Given the description of an element on the screen output the (x, y) to click on. 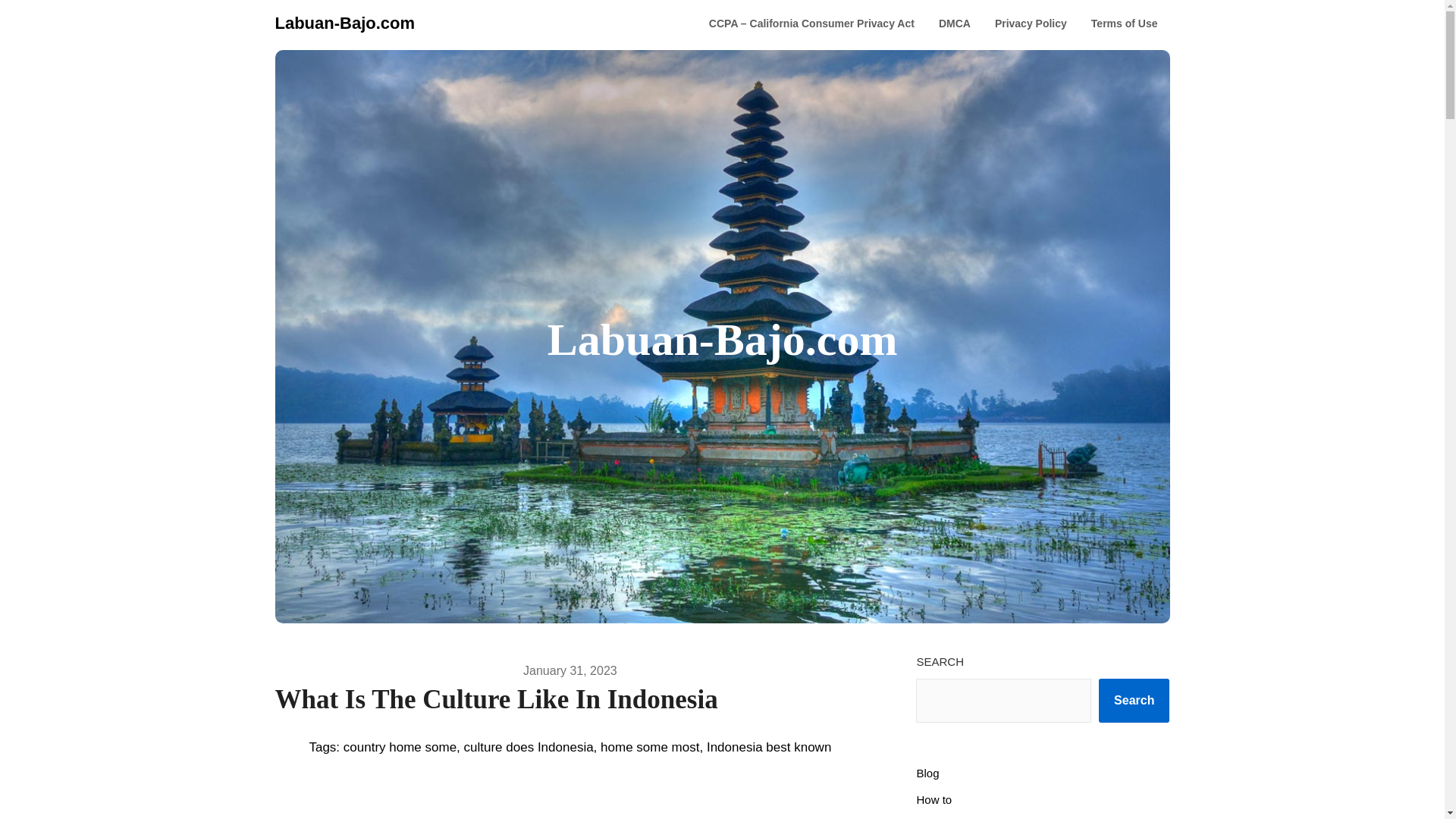
Privacy Policy (1030, 24)
Labuan-Bajo.com (344, 22)
Indonesia best known (768, 747)
January 31, 2023 (569, 670)
home some most (648, 747)
culture does Indonesia (529, 747)
country home some (400, 747)
Terms of Use (1124, 24)
DMCA (954, 24)
